Given the description of an element on the screen output the (x, y) to click on. 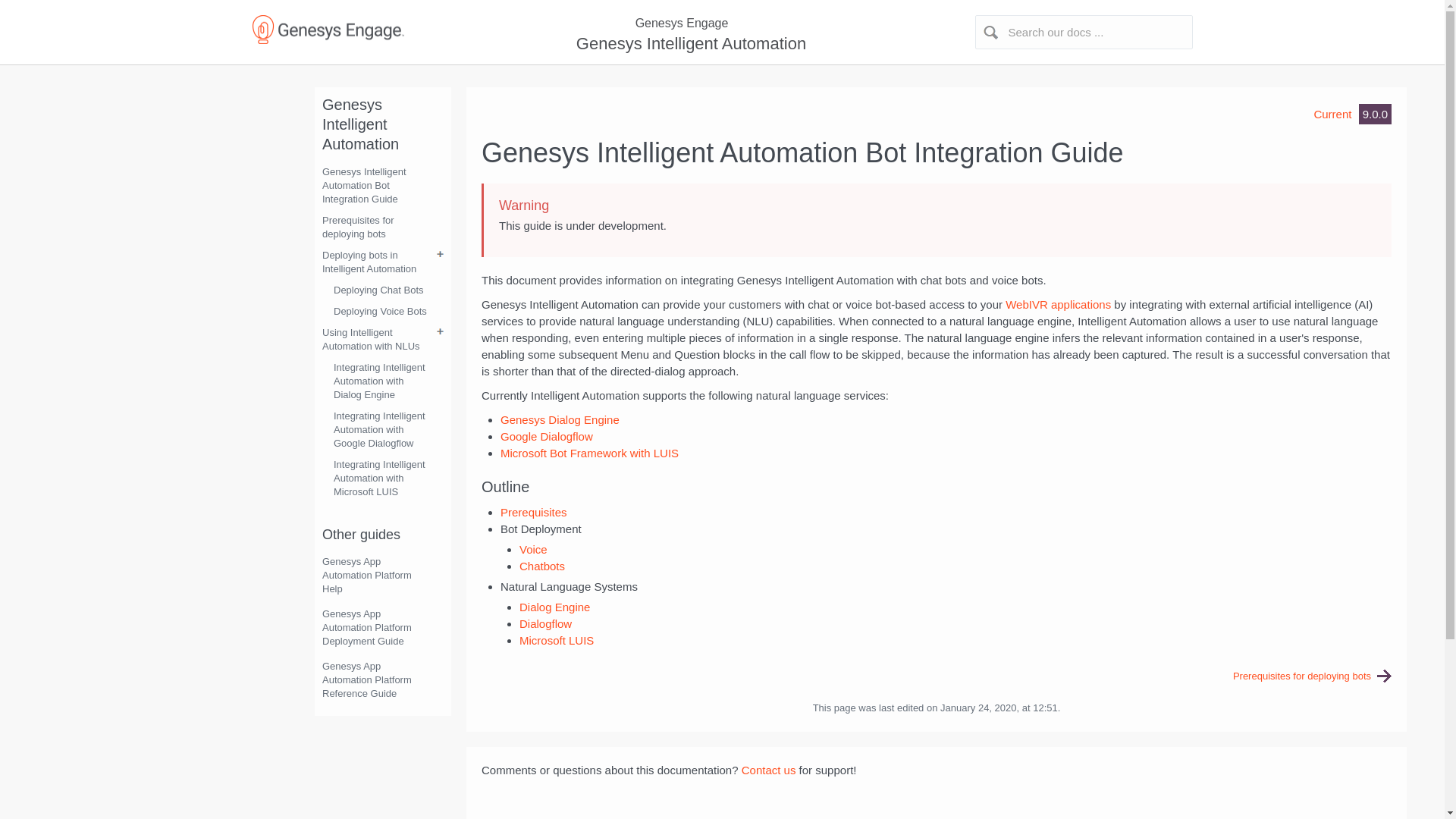
Click to expand (721, 23)
Download a PDF (1272, 102)
Genesys Intelligent Automation (689, 43)
Download a PDF (1272, 97)
